Given the description of an element on the screen output the (x, y) to click on. 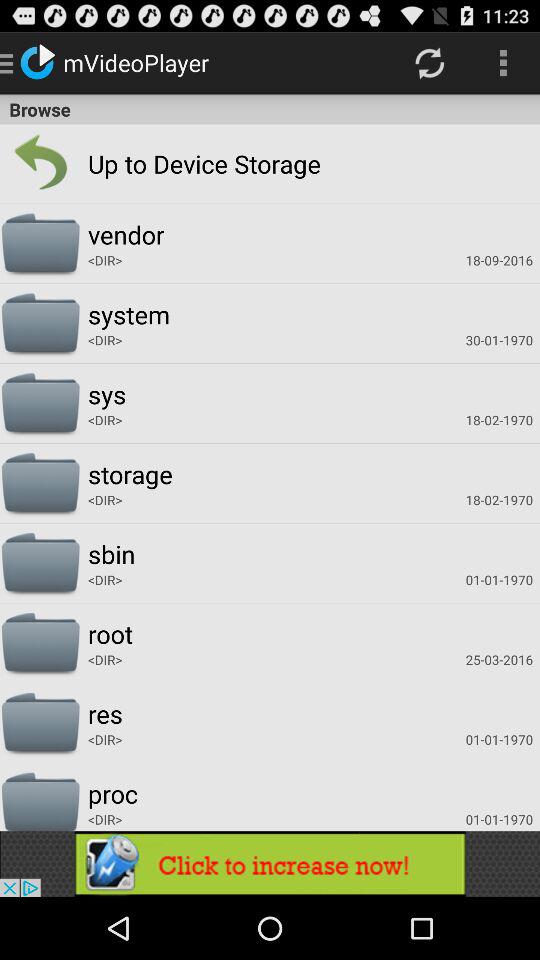
go to advertisement (270, 864)
